Given the description of an element on the screen output the (x, y) to click on. 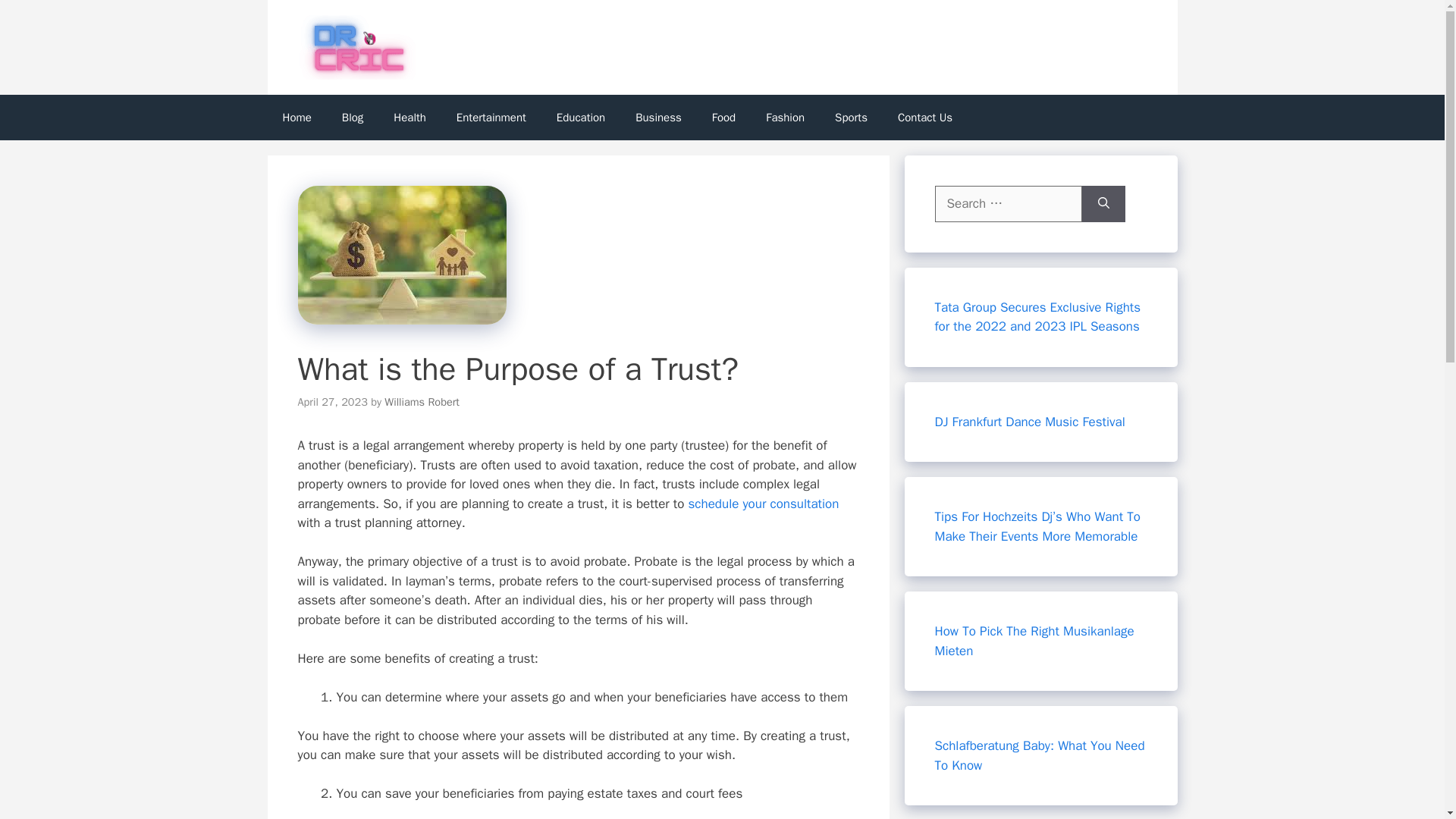
Search for: (1007, 203)
Williams Robert (422, 401)
Blog (352, 117)
Entertainment (491, 117)
Business (658, 117)
Contact Us (925, 117)
How To Pick The Right Musikanlage Mieten (1034, 641)
Food (724, 117)
Health (409, 117)
Education (580, 117)
